Given the description of an element on the screen output the (x, y) to click on. 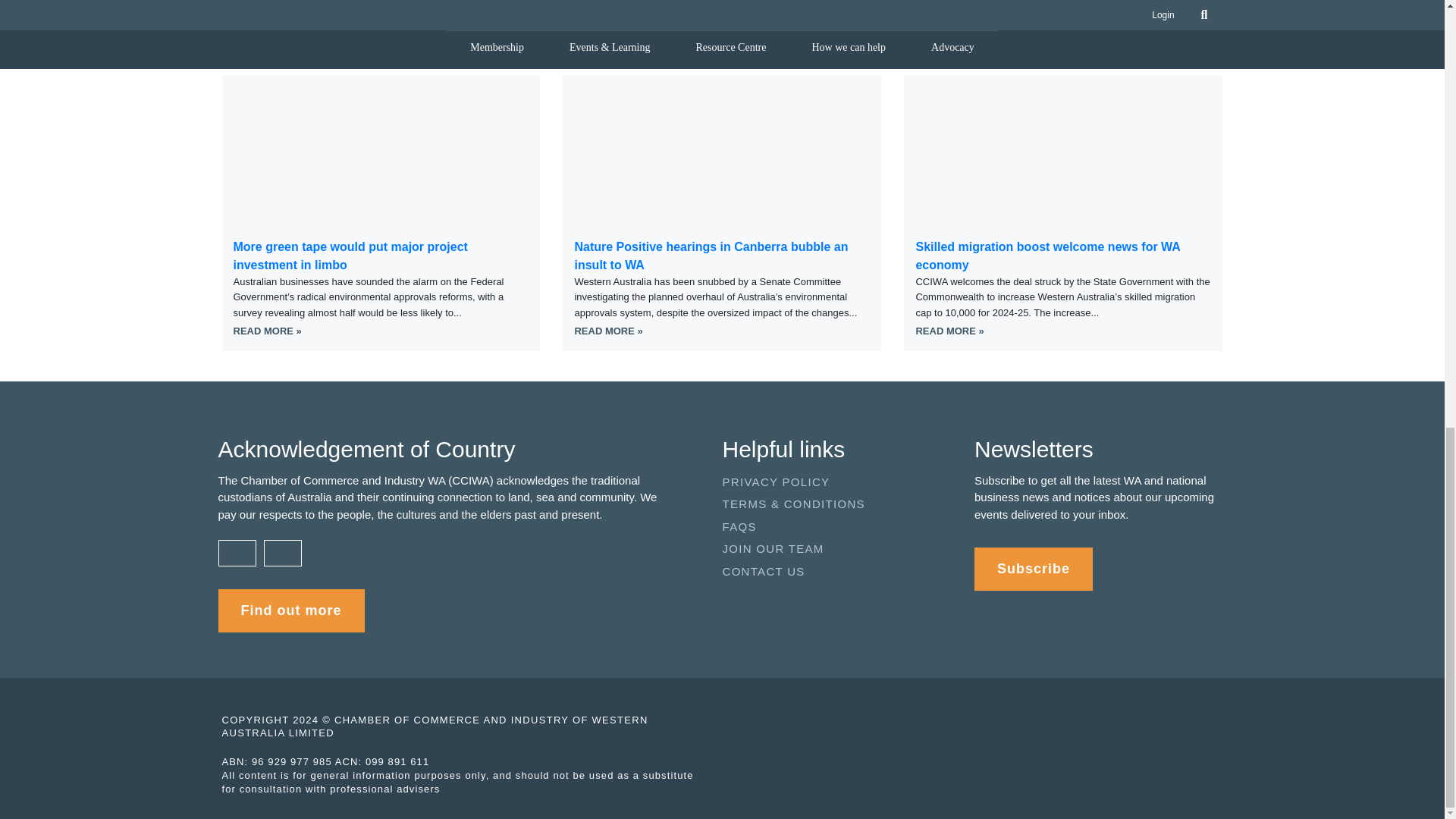
Email (863, 0)
Facebook (674, 0)
Twitter (580, 0)
LinkedIn (769, 0)
